Given the description of an element on the screen output the (x, y) to click on. 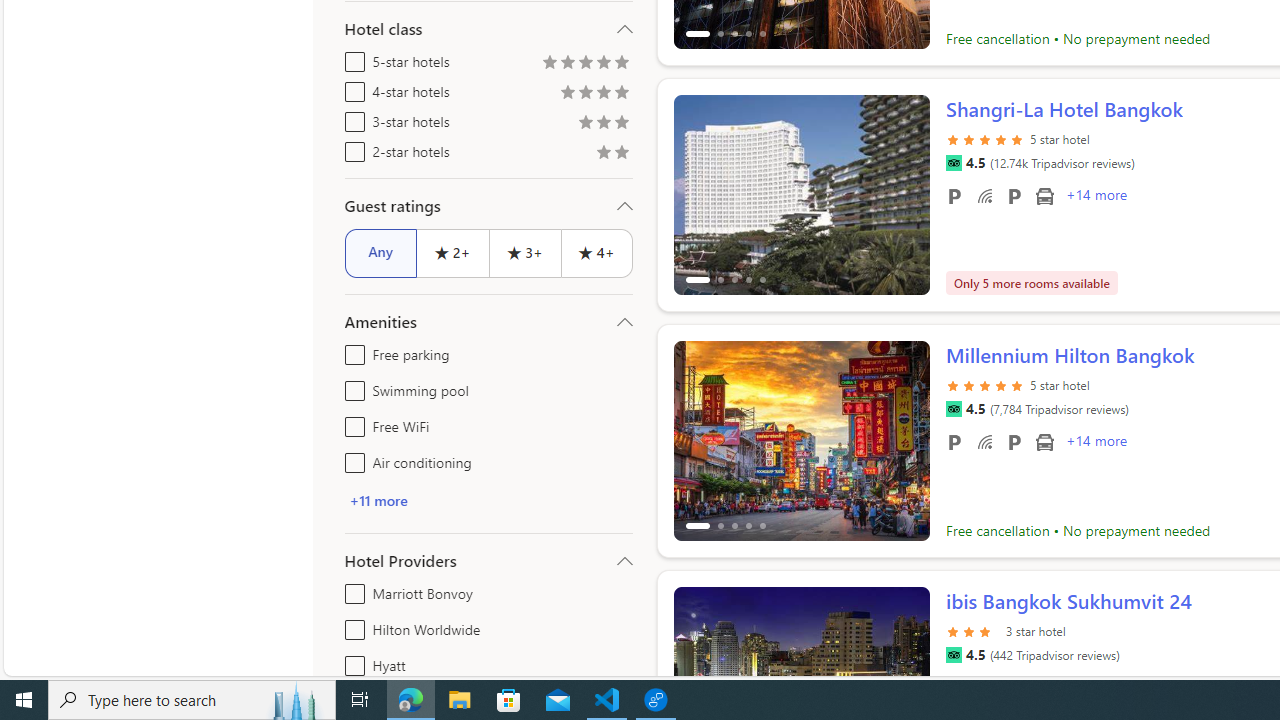
Valet parking (1014, 441)
